Given the description of an element on the screen output the (x, y) to click on. 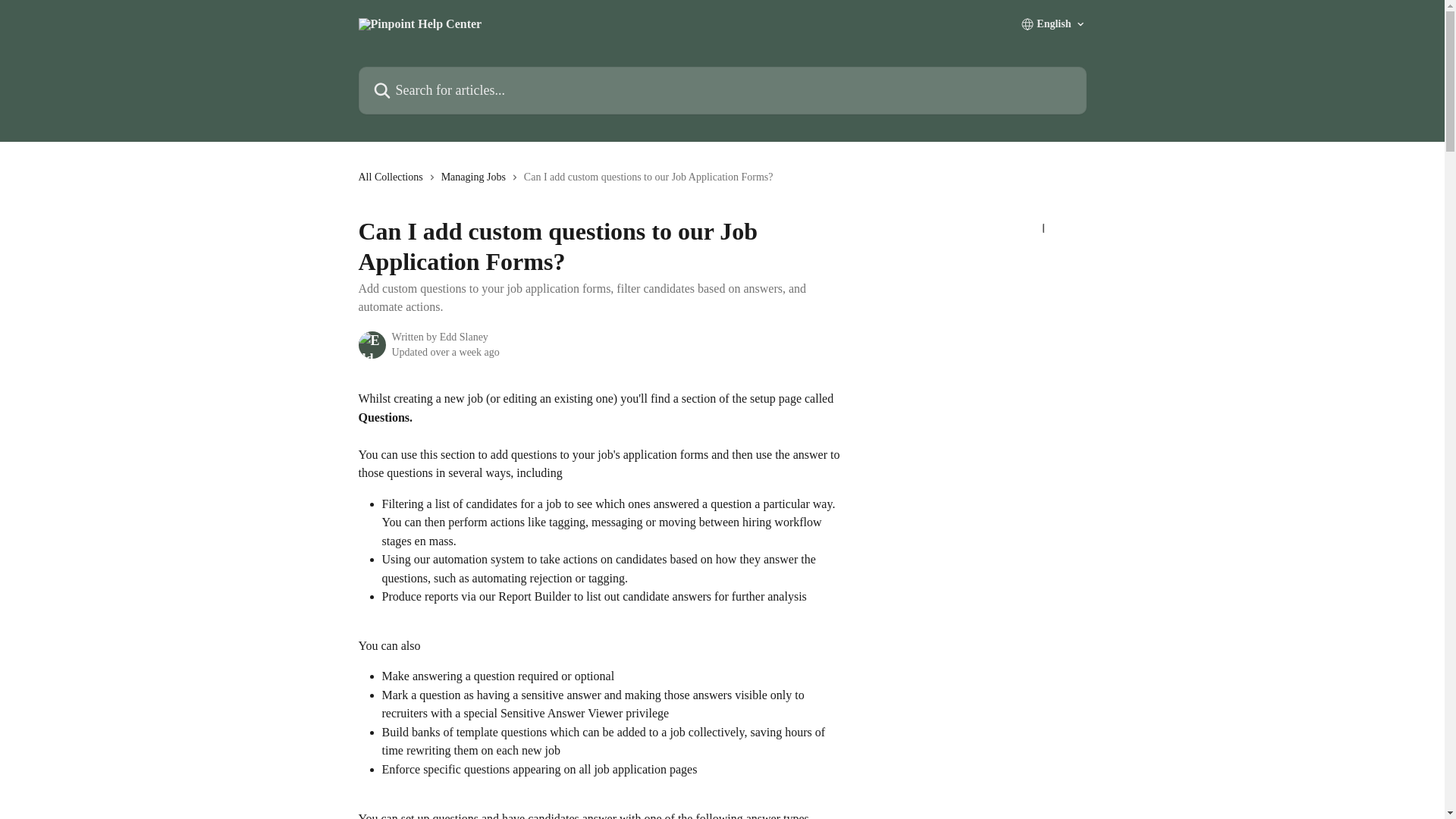
All Collections (393, 176)
Managing Jobs (476, 176)
